Given the description of an element on the screen output the (x, y) to click on. 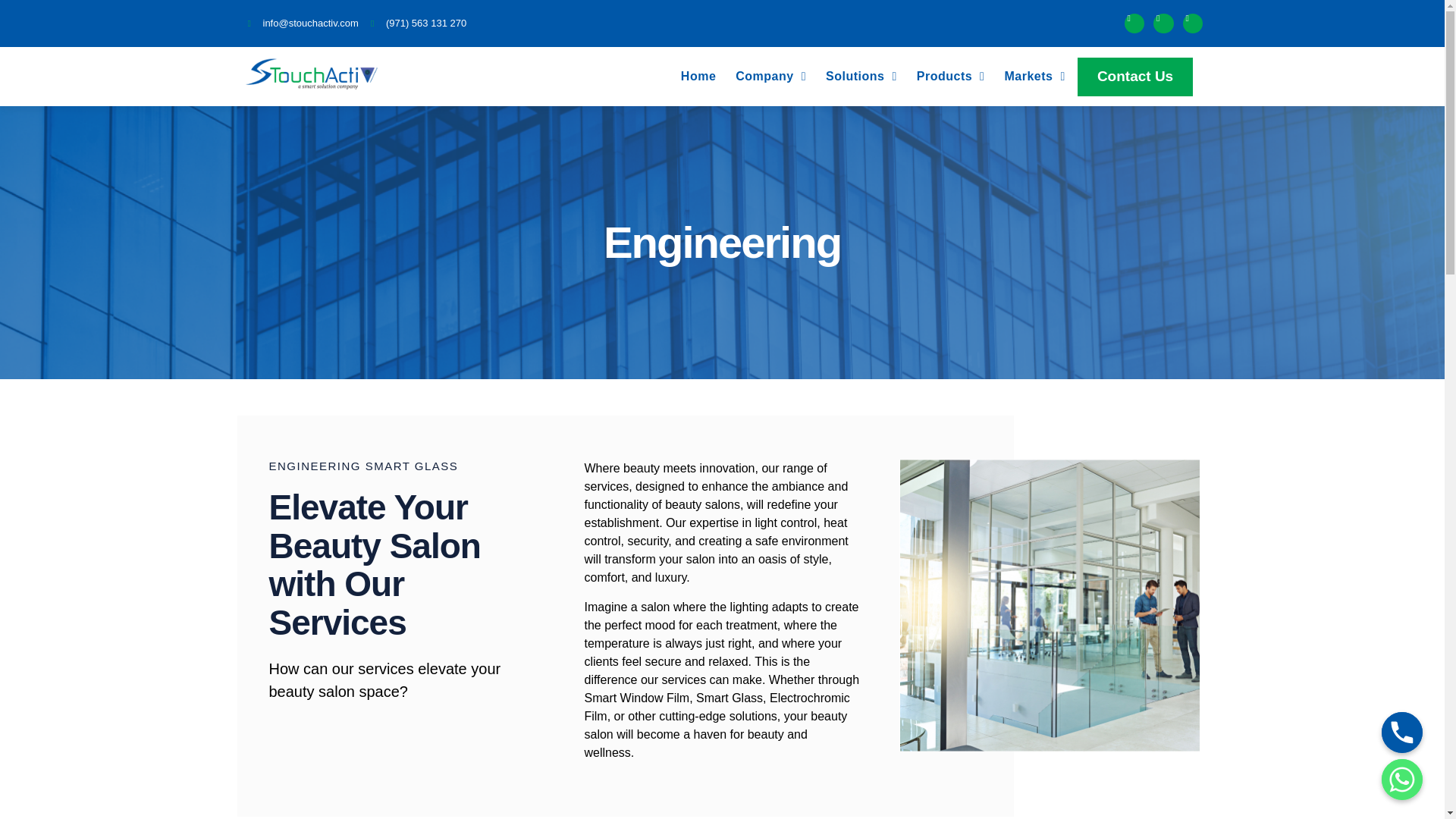
Solutions (861, 76)
Markets (1034, 76)
Home (698, 76)
Company (770, 76)
Products (950, 76)
